Given the description of an element on the screen output the (x, y) to click on. 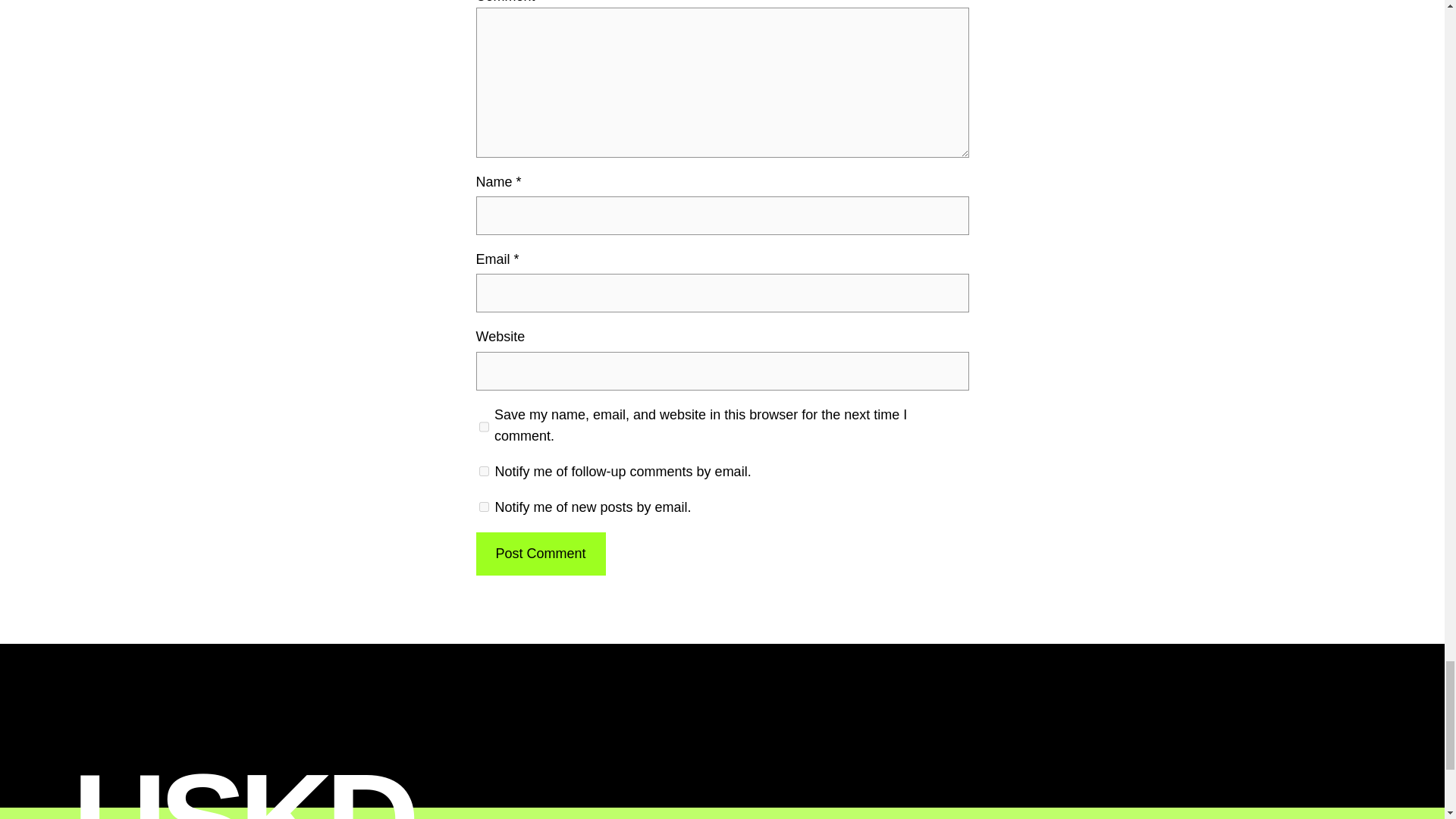
Post Comment (540, 553)
subscribe (484, 506)
subscribe (484, 470)
Post Comment (540, 553)
